Given the description of an element on the screen output the (x, y) to click on. 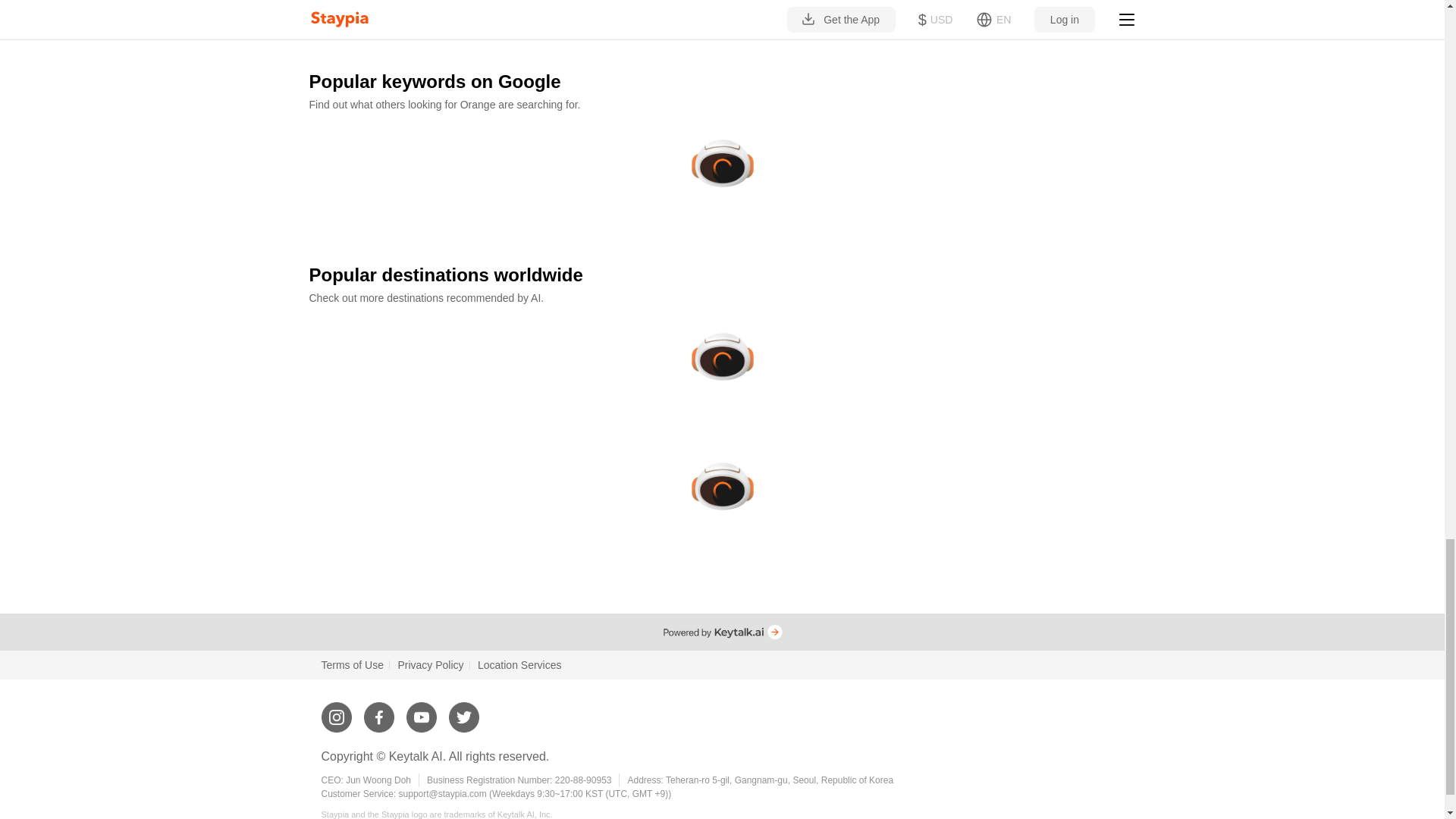
Privacy Policy (430, 664)
Location Services (519, 664)
youtube (421, 710)
Terms of Use (352, 664)
facebook (379, 710)
twitter (463, 710)
instagram (336, 710)
